Given the description of an element on the screen output the (x, y) to click on. 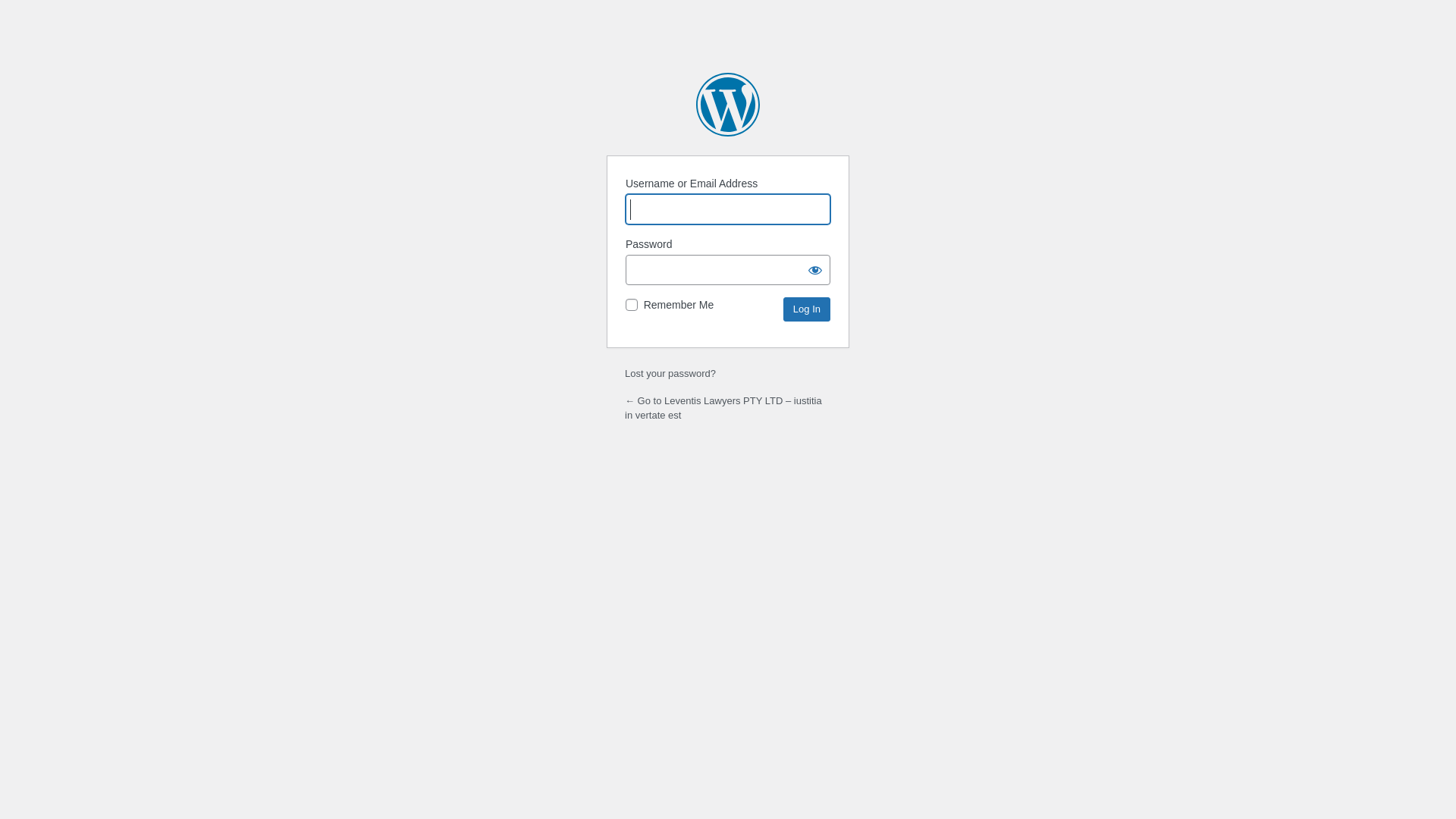
Log In Element type: text (806, 309)
Lost your password? Element type: text (669, 373)
Powered by WordPress Element type: text (727, 104)
